Given the description of an element on the screen output the (x, y) to click on. 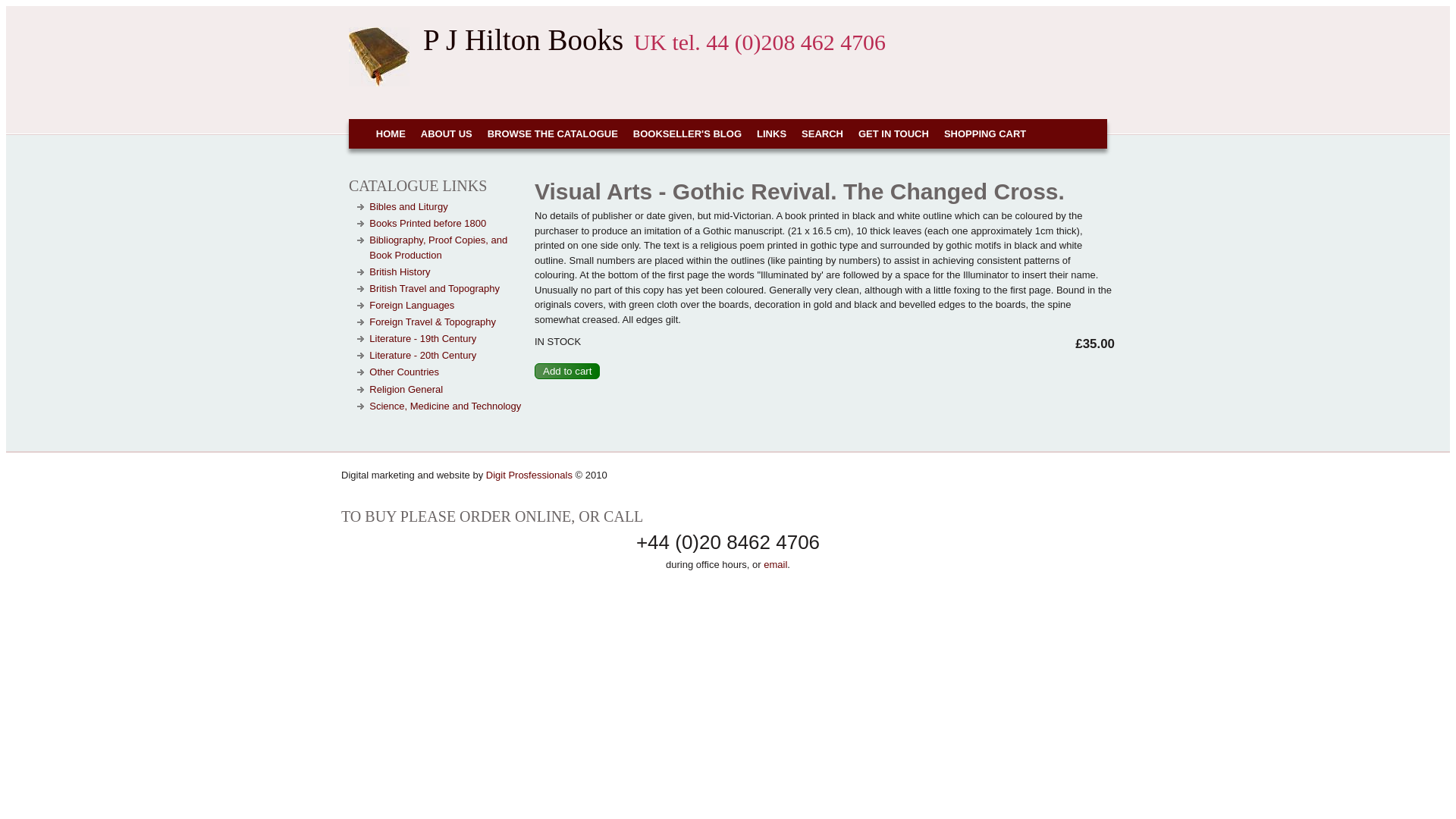
Literature - 20th Century (422, 355)
Digit Prosfessionals (529, 474)
Foreign Languages (411, 305)
GET IN TOUCH (893, 133)
P J Hilton Books (523, 39)
Religion General (405, 389)
Bibles and Liturgy (407, 206)
SHOPPING CART (984, 133)
SEARCH (821, 133)
